Given the description of an element on the screen output the (x, y) to click on. 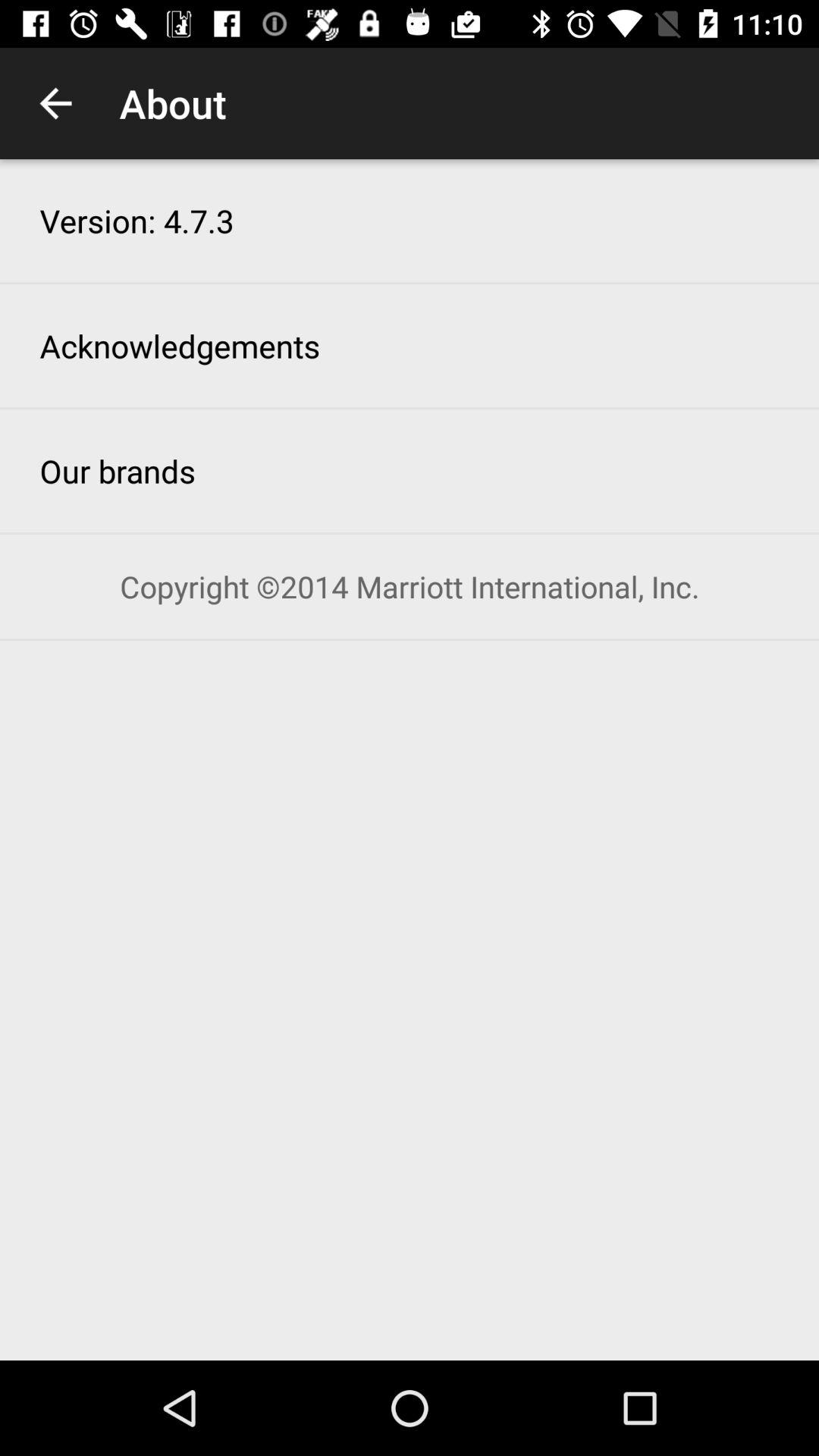
click the icon next to about (55, 103)
